Given the description of an element on the screen output the (x, y) to click on. 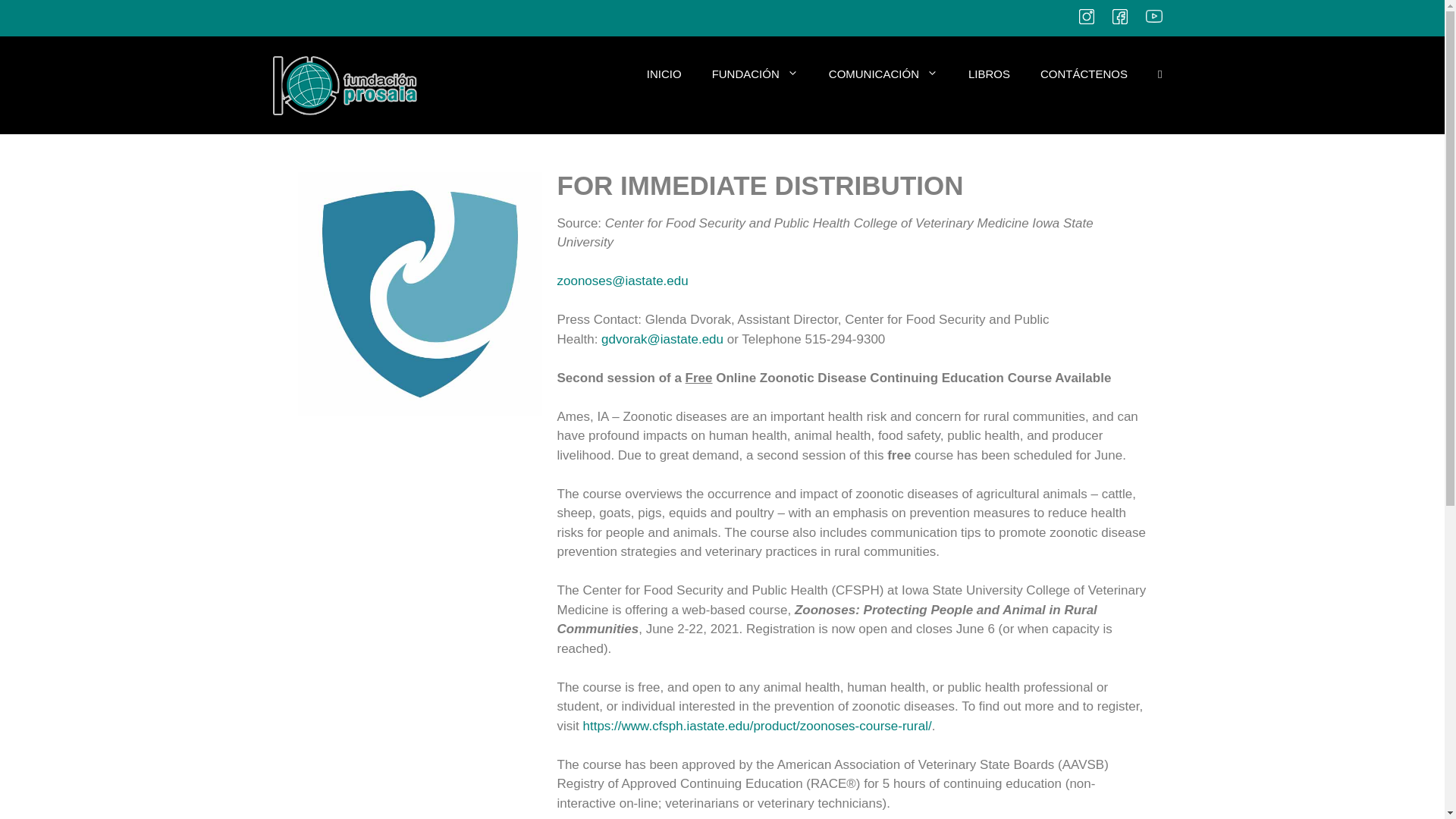
Prosaia Nuevo (343, 83)
LIBROS (989, 74)
INICIO (664, 74)
Prosaia Nuevo (343, 84)
